Given the description of an element on the screen output the (x, y) to click on. 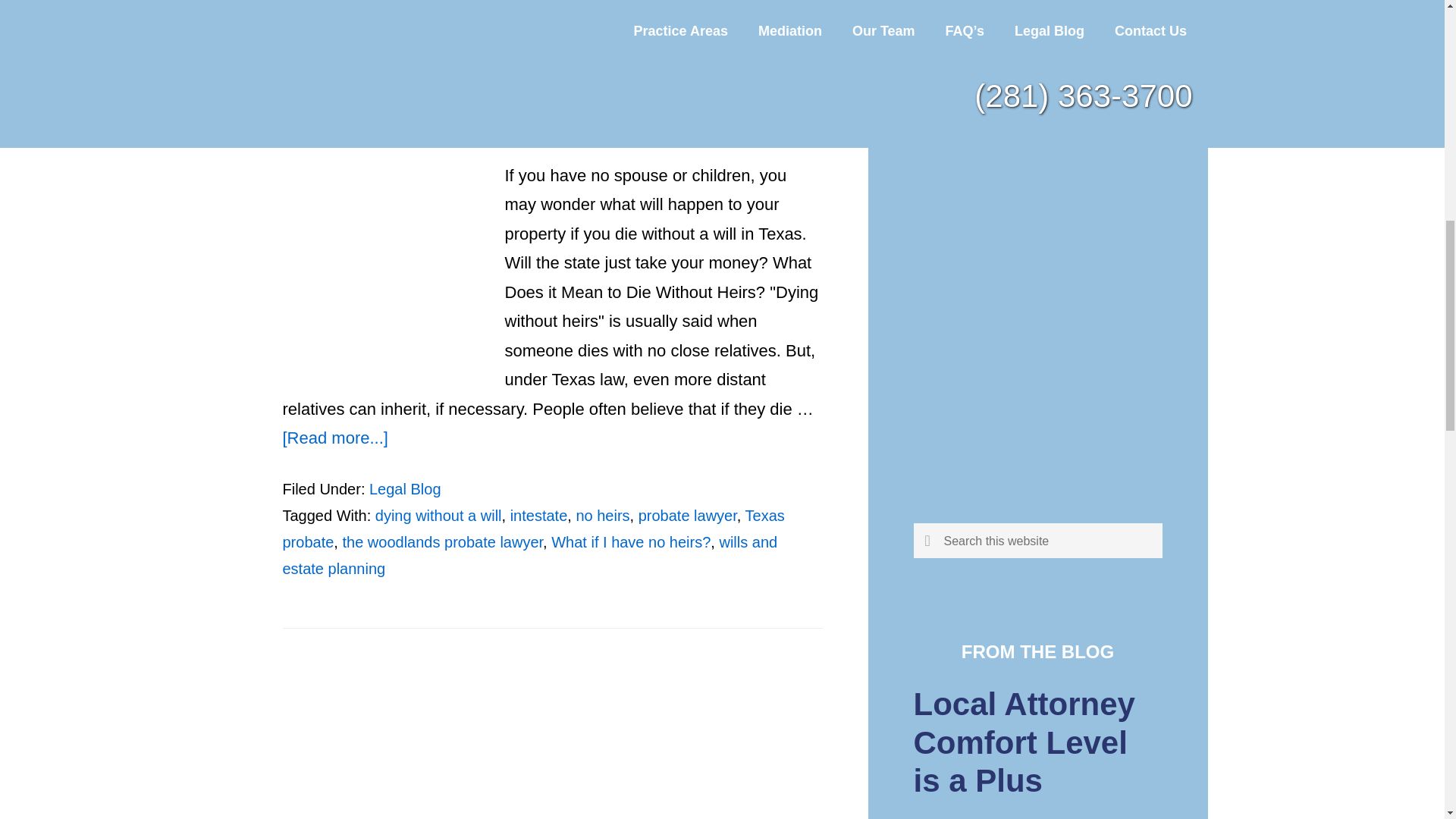
Local Attorney Comfort Level is a Plus (1023, 742)
